Given the description of an element on the screen output the (x, y) to click on. 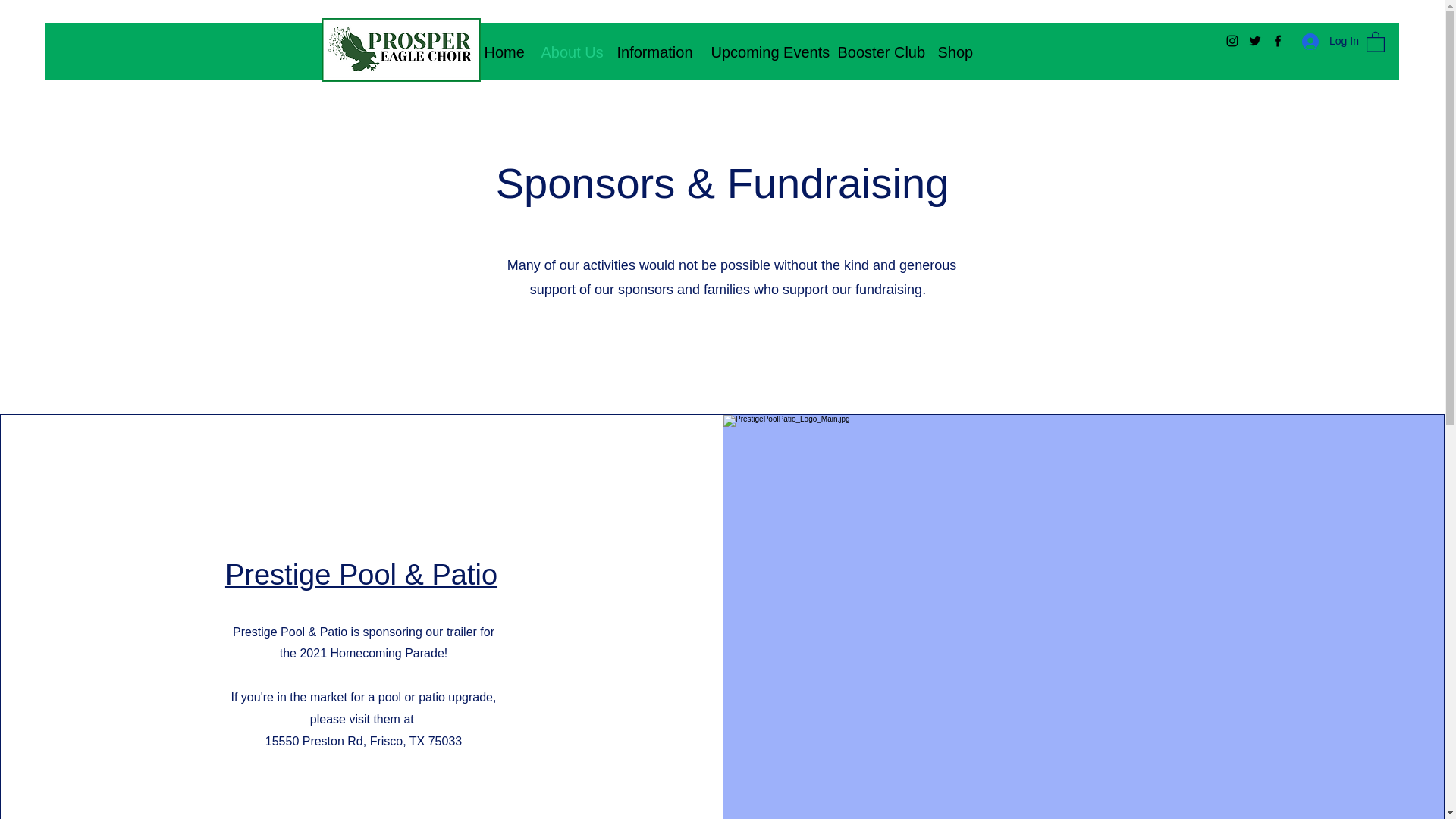
Information (651, 51)
Upcoming Events (761, 51)
About Us (567, 51)
Booster Club (876, 51)
Shop (952, 51)
Home (501, 51)
Log In (1325, 41)
